Given the description of an element on the screen output the (x, y) to click on. 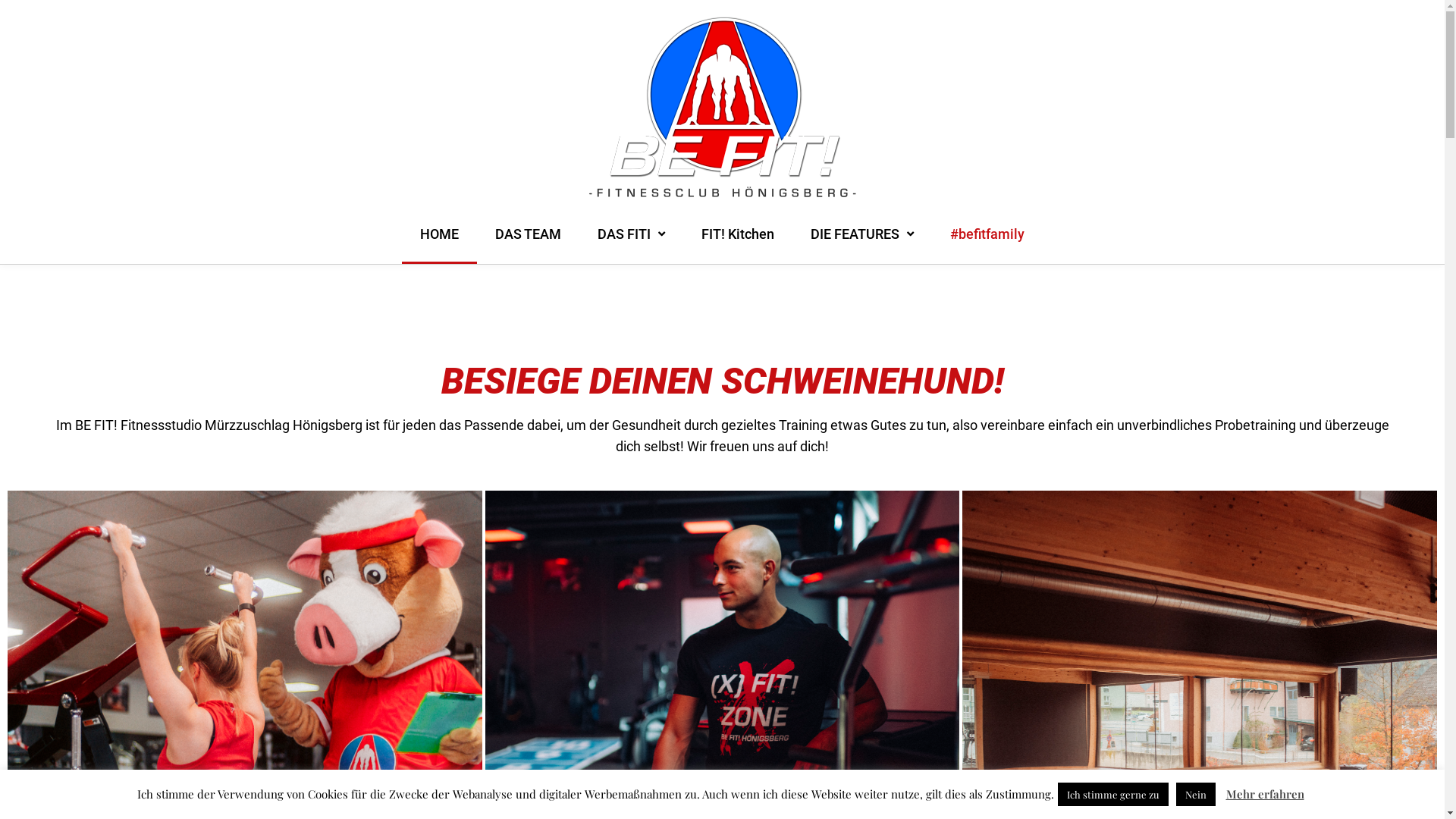
Nein Element type: text (1194, 794)
HOME Element type: text (438, 244)
DIE FEATURES Element type: text (861, 244)
Ich stimme gerne zu Element type: text (1112, 794)
#befitfamily Element type: text (986, 244)
FIT! Kitchen Element type: text (737, 244)
Mehr erfahren Element type: text (1264, 793)
DAS FITI Element type: text (631, 244)
DAS TEAM Element type: text (527, 244)
